Given the description of an element on the screen output the (x, y) to click on. 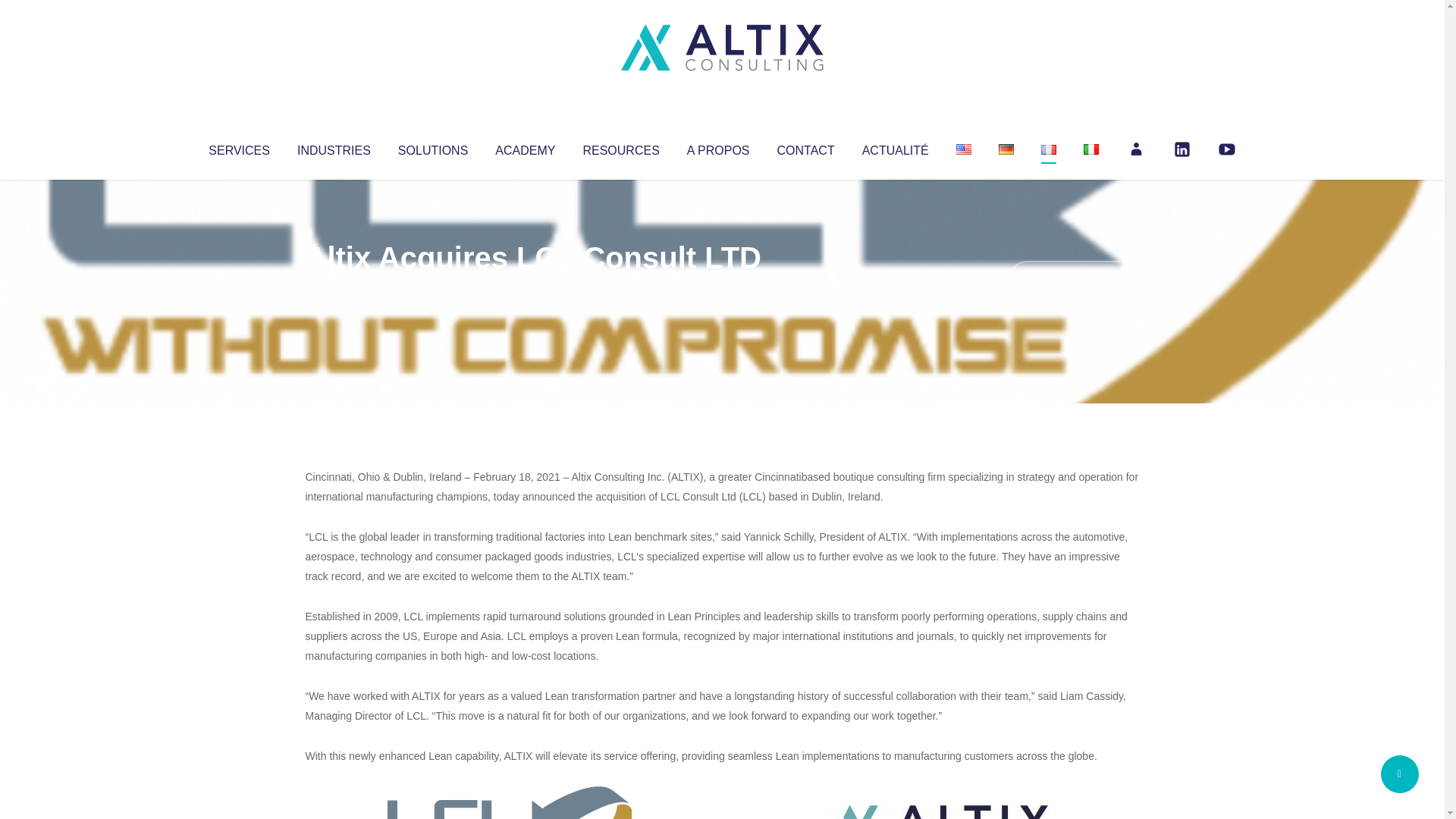
ACADEMY (524, 146)
SOLUTIONS (432, 146)
Articles par Altix (333, 287)
Altix (333, 287)
SERVICES (238, 146)
Uncategorized (530, 287)
INDUSTRIES (334, 146)
RESOURCES (620, 146)
No Comments (1073, 278)
A PROPOS (718, 146)
